Given the description of an element on the screen output the (x, y) to click on. 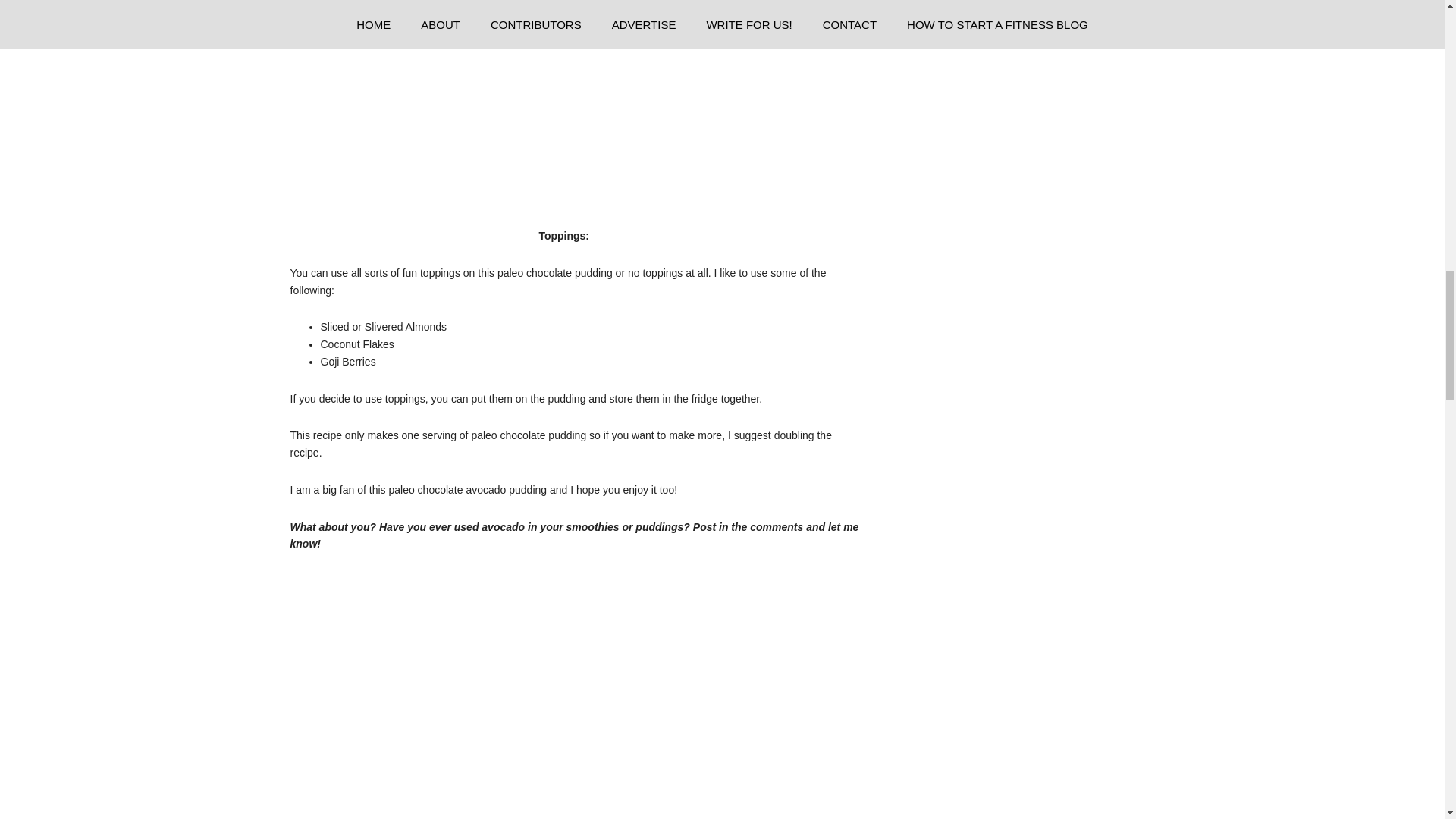
Paleo chocolate pudding recipe (421, 110)
Paleo Chocolate Pudding Recipe (522, 695)
